Given the description of an element on the screen output the (x, y) to click on. 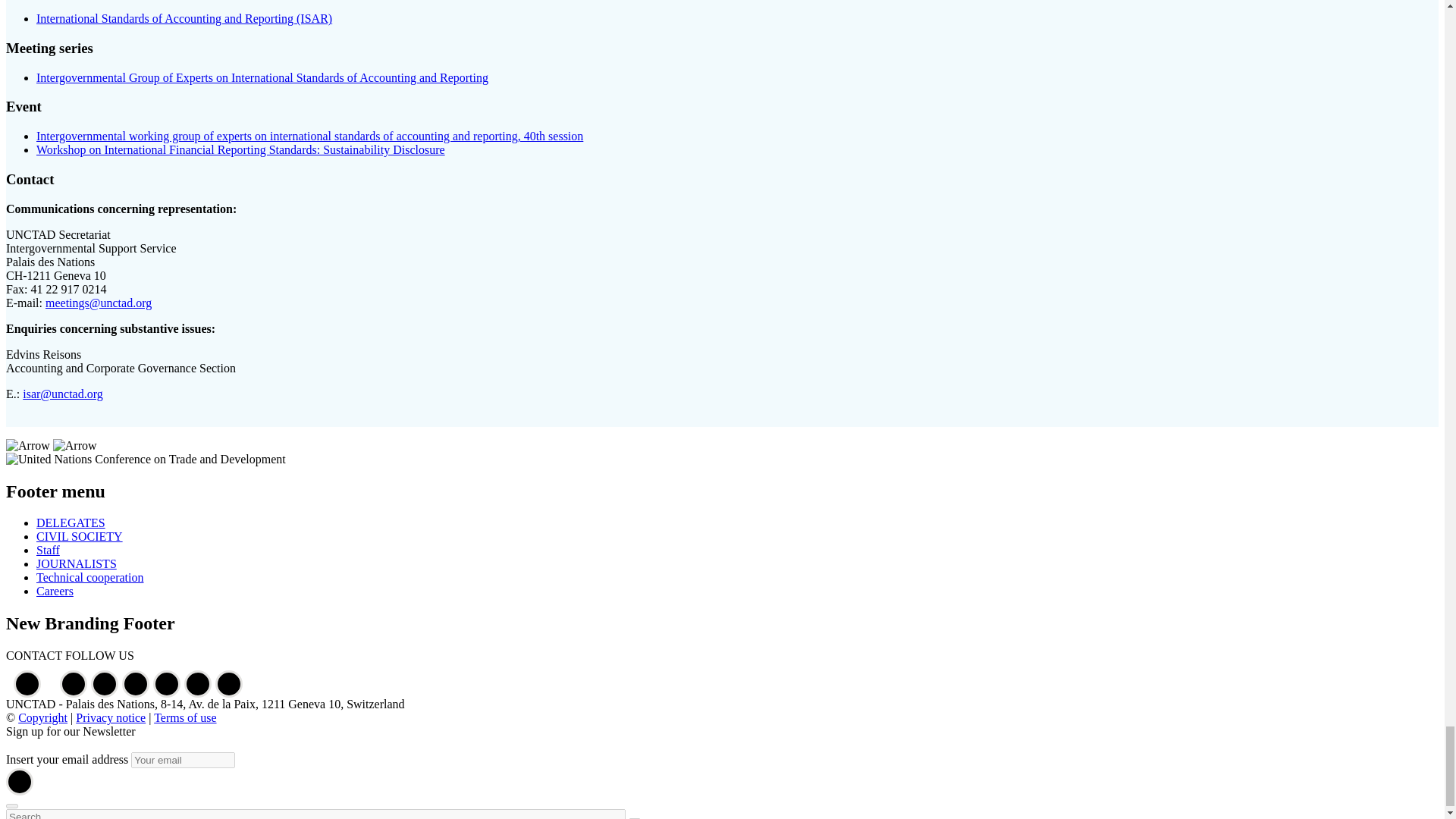
Enter your email address (182, 760)
